Given the description of an element on the screen output the (x, y) to click on. 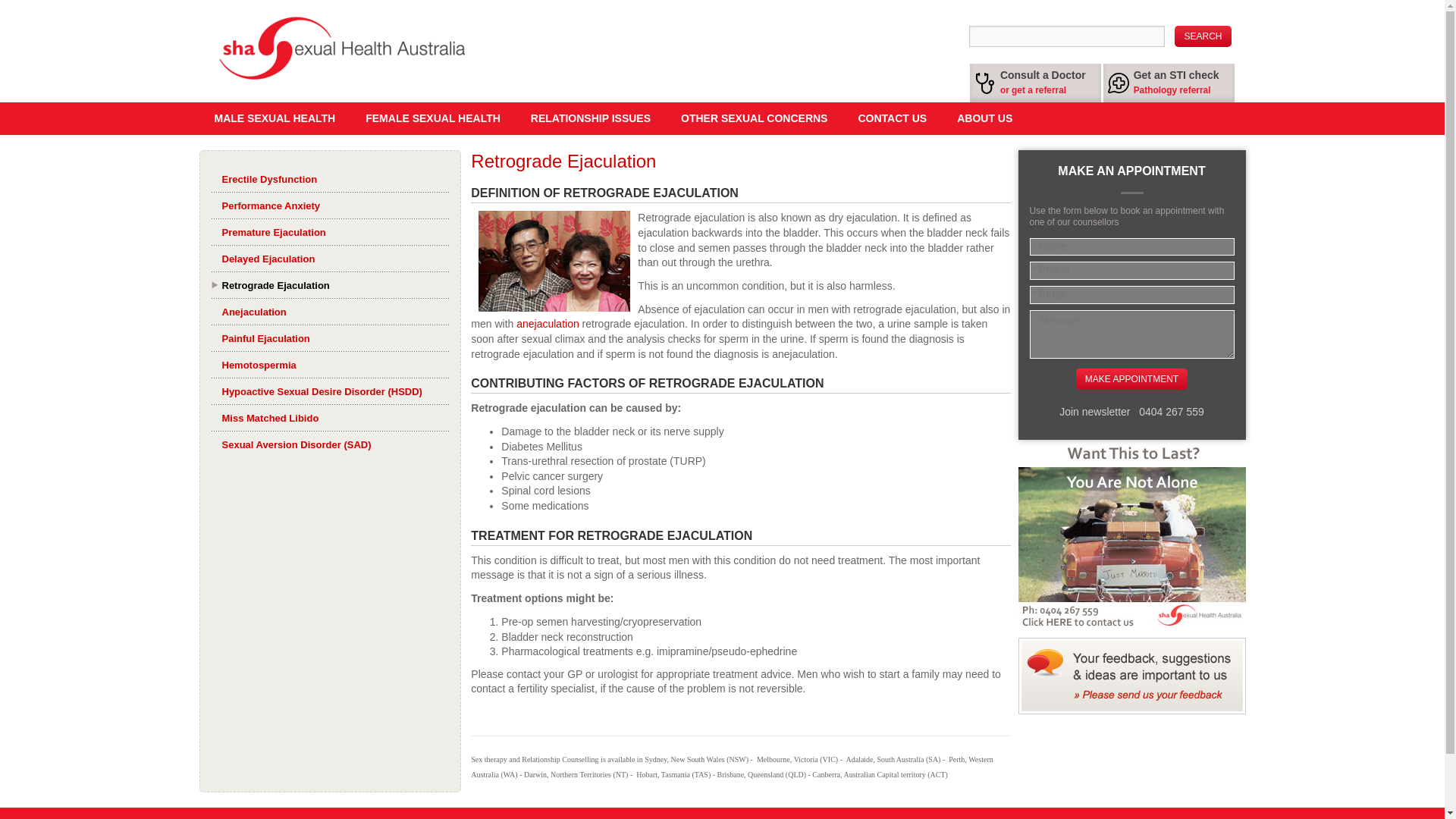
Send us your feedback (1130, 676)
Retrograde Ejaculation (554, 261)
Intimacy Issues?  You are not alone (1130, 534)
